Given the description of an element on the screen output the (x, y) to click on. 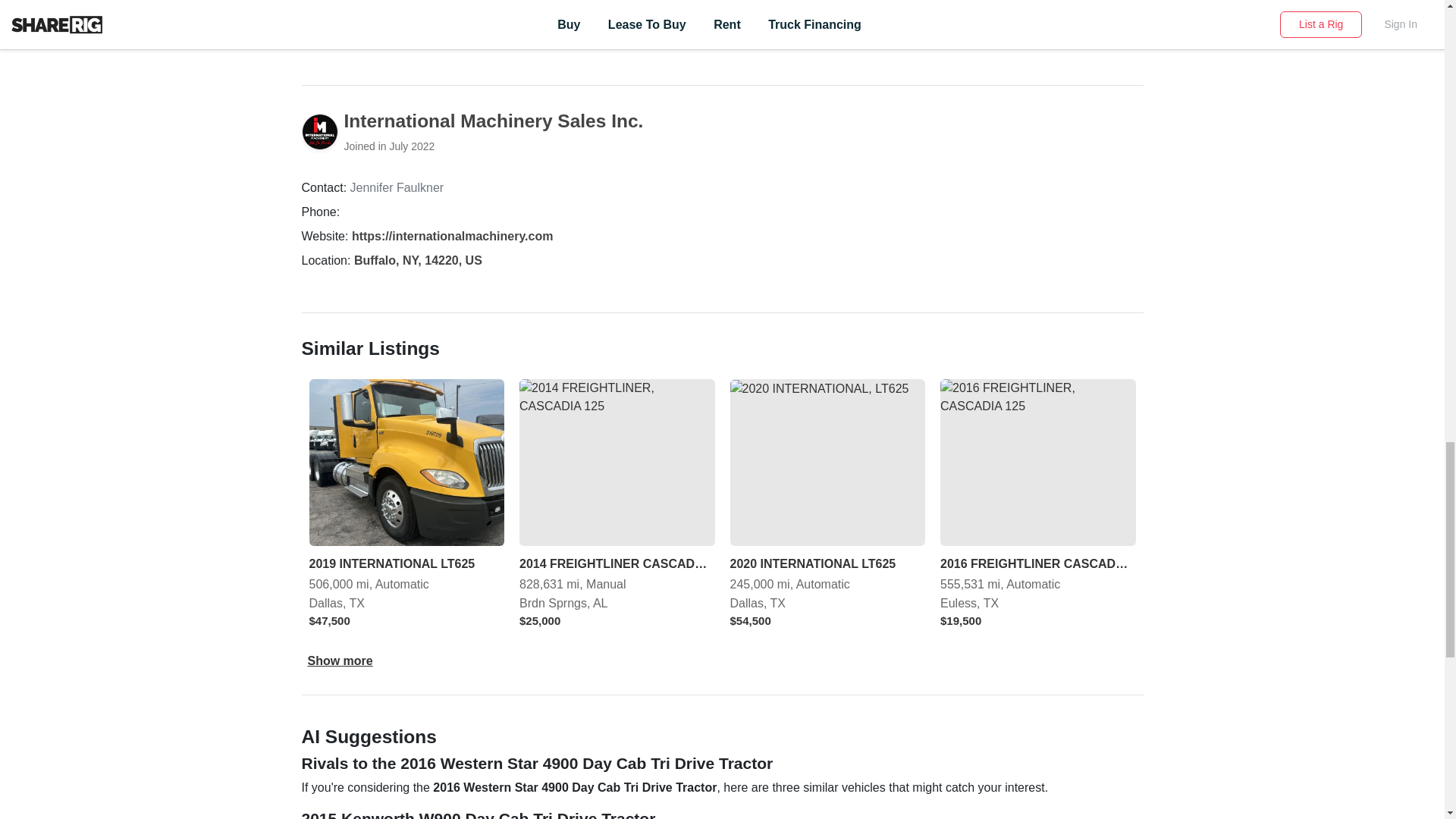
International Machinery Sales Inc. (493, 120)
Buffalo, NY, 14220, US (417, 259)
Show more (339, 660)
